Given the description of an element on the screen output the (x, y) to click on. 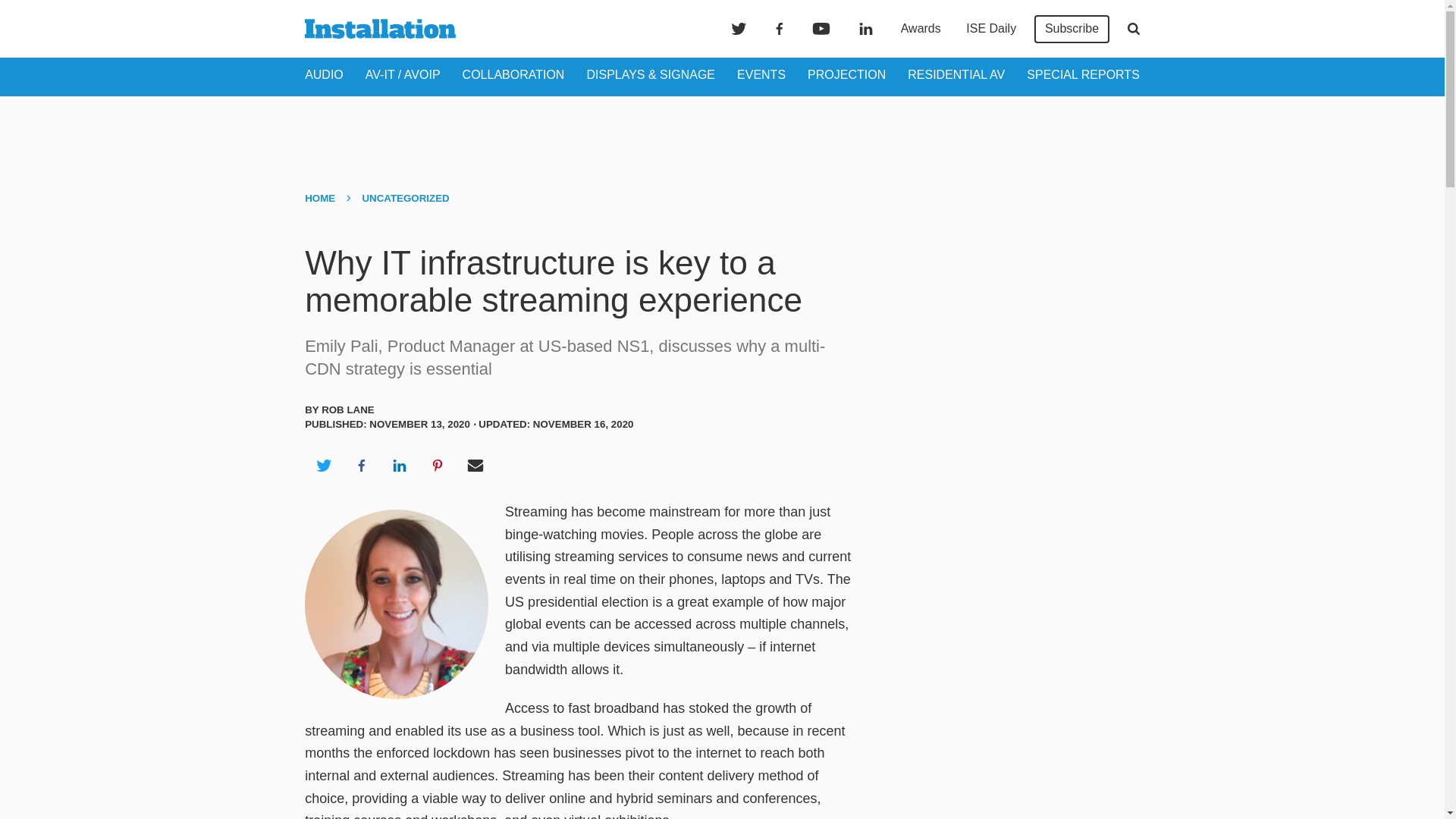
Subscribe (1071, 29)
Share on LinkedIn (399, 465)
Share on Facebook (361, 465)
Awards (921, 29)
ISE Daily (990, 29)
Share on Pinterest (438, 465)
AUDIO (323, 74)
Rob Lane's Author Profile (347, 409)
Share via Email (476, 465)
Share on Twitter (323, 465)
